Given the description of an element on the screen output the (x, y) to click on. 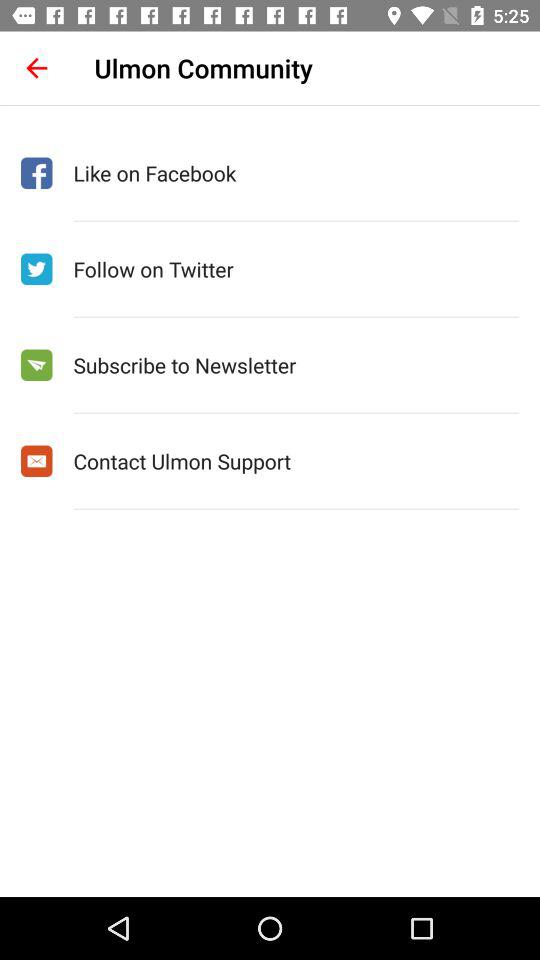
launch the item next to the ulmon community (36, 68)
